Given the description of an element on the screen output the (x, y) to click on. 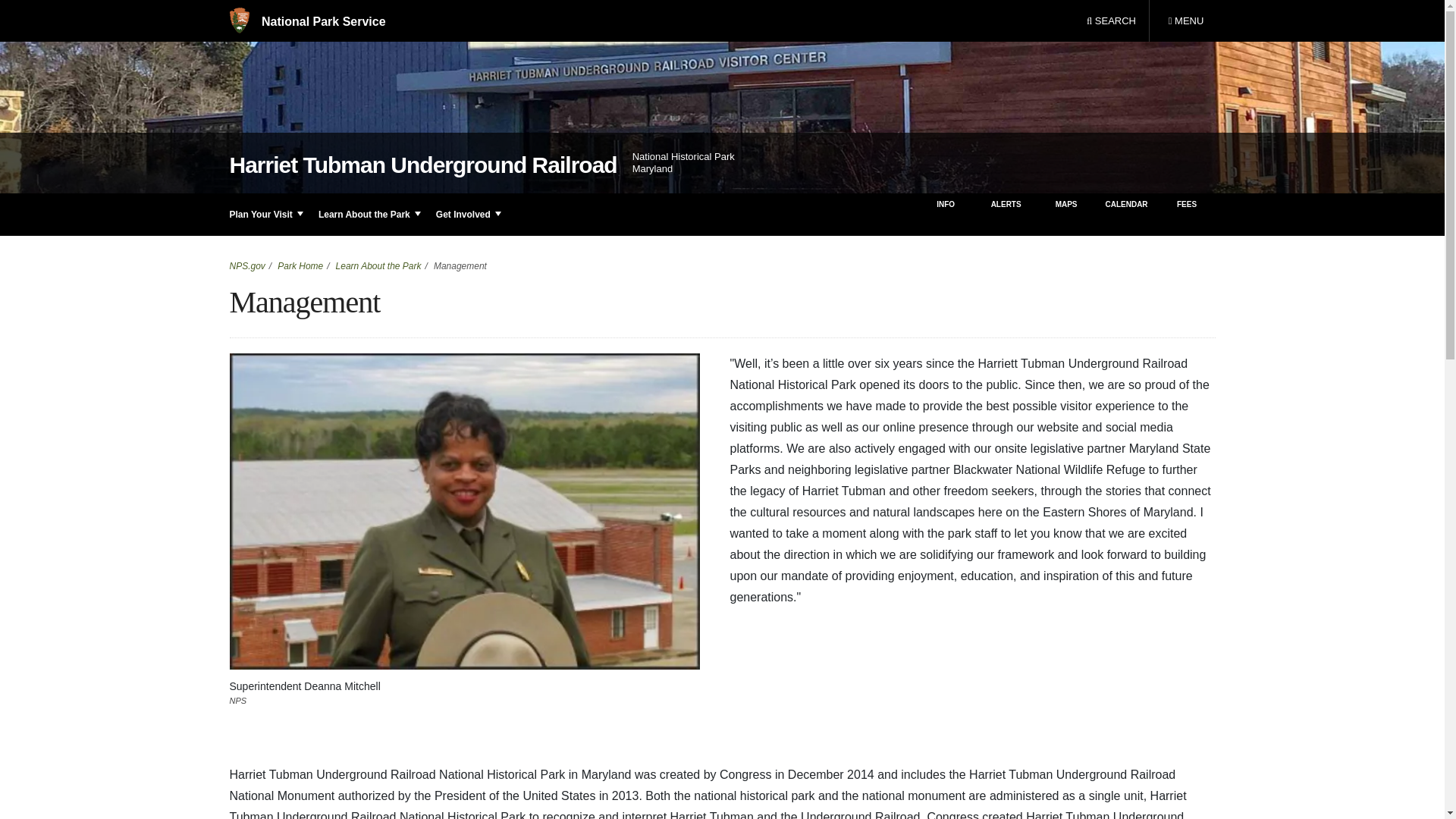
National Park Service (307, 20)
SEARCH (1111, 20)
